Given the description of an element on the screen output the (x, y) to click on. 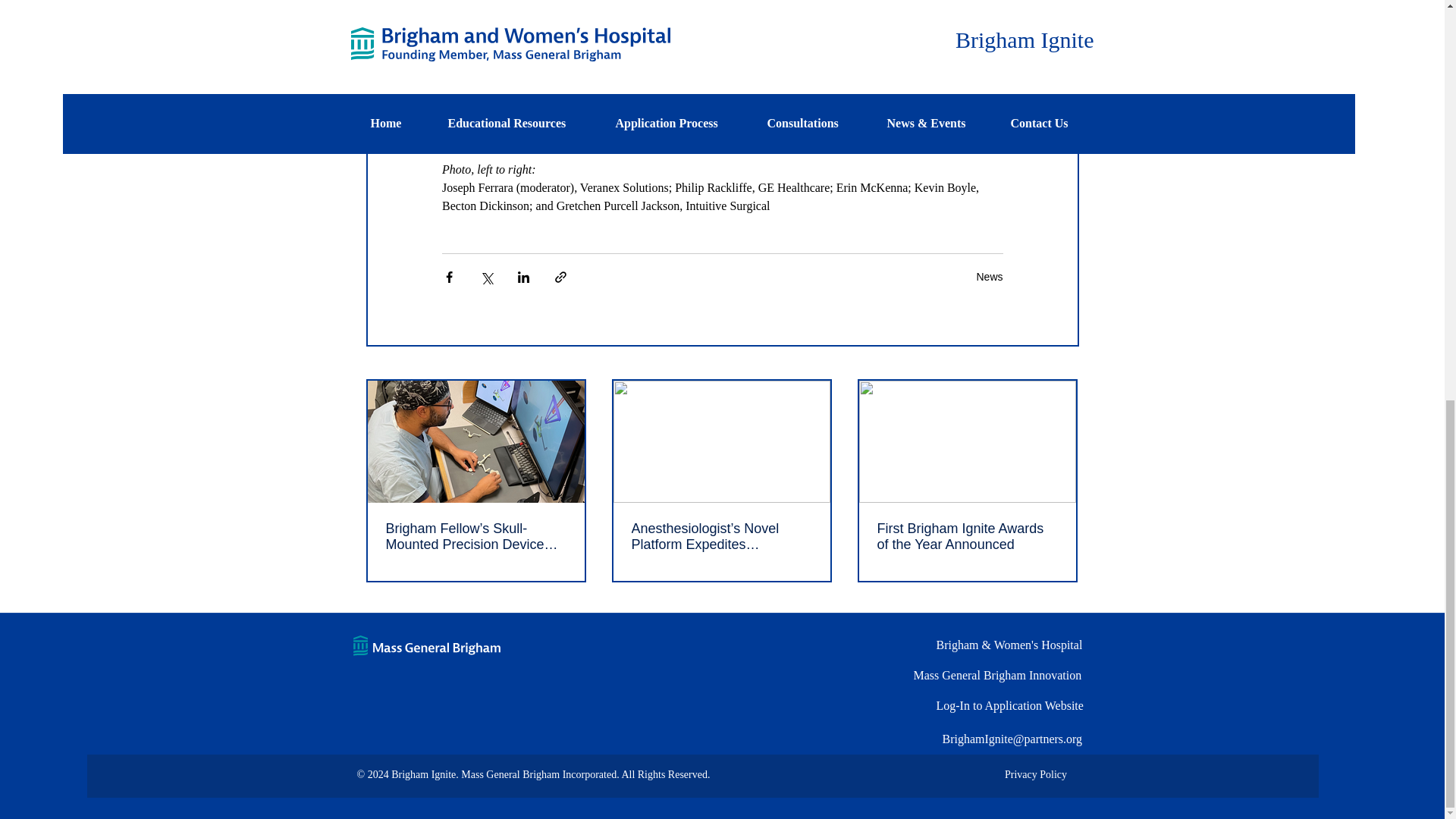
Mass General Brigham Innovation (1019, 675)
News (989, 276)
Log-In to Application Website (1043, 706)
First Brigham Ignite Awards of the Year Announced (966, 536)
